Given the description of an element on the screen output the (x, y) to click on. 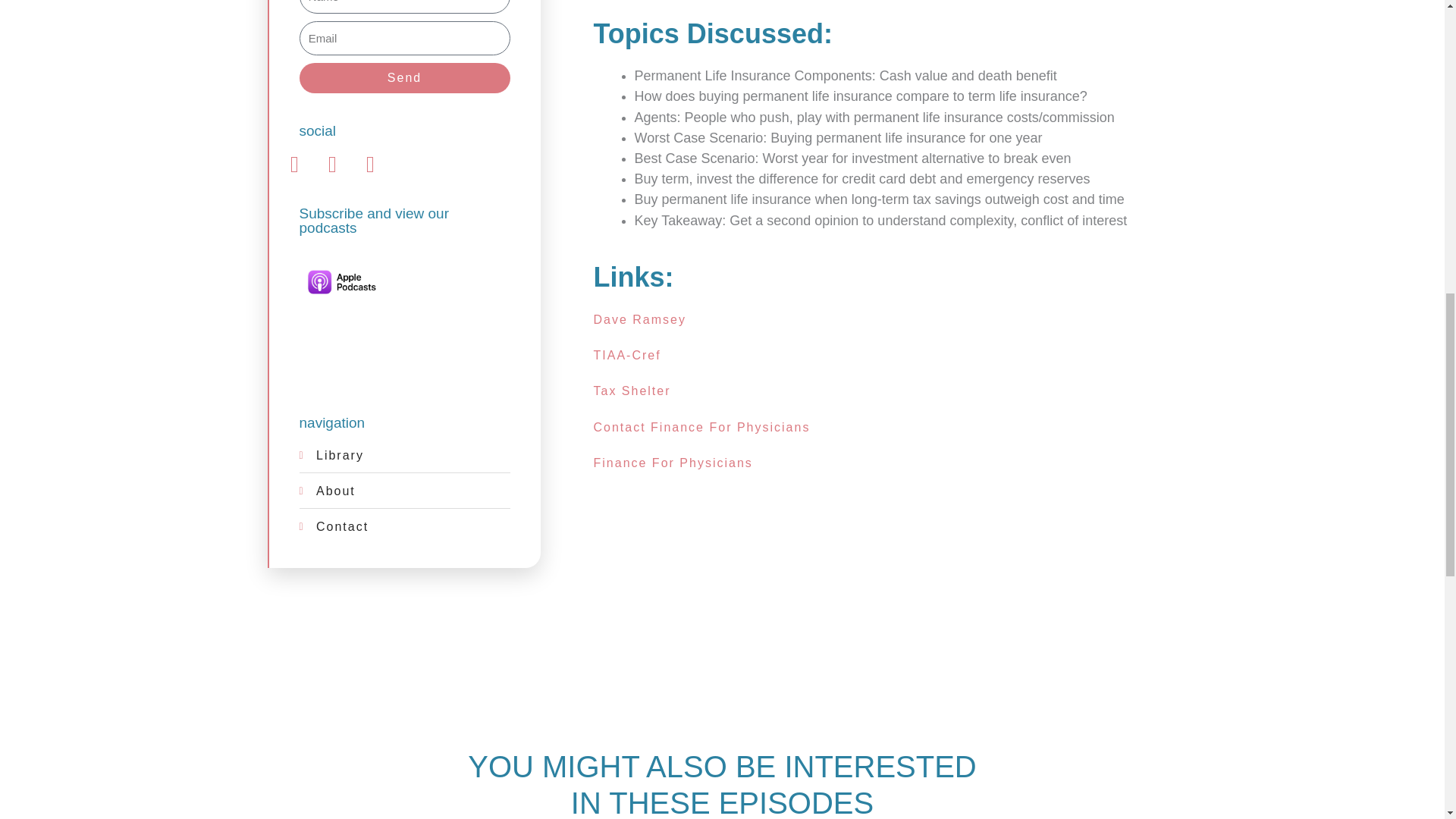
Youtube (370, 164)
Contact Finance For Physicians (700, 427)
Send (403, 78)
Twitter (332, 164)
Contact (403, 526)
Finance For Physicians (672, 462)
Tax Shelter (630, 390)
Library (403, 455)
TIAA-Cref (626, 354)
Facebook (294, 164)
